Given the description of an element on the screen output the (x, y) to click on. 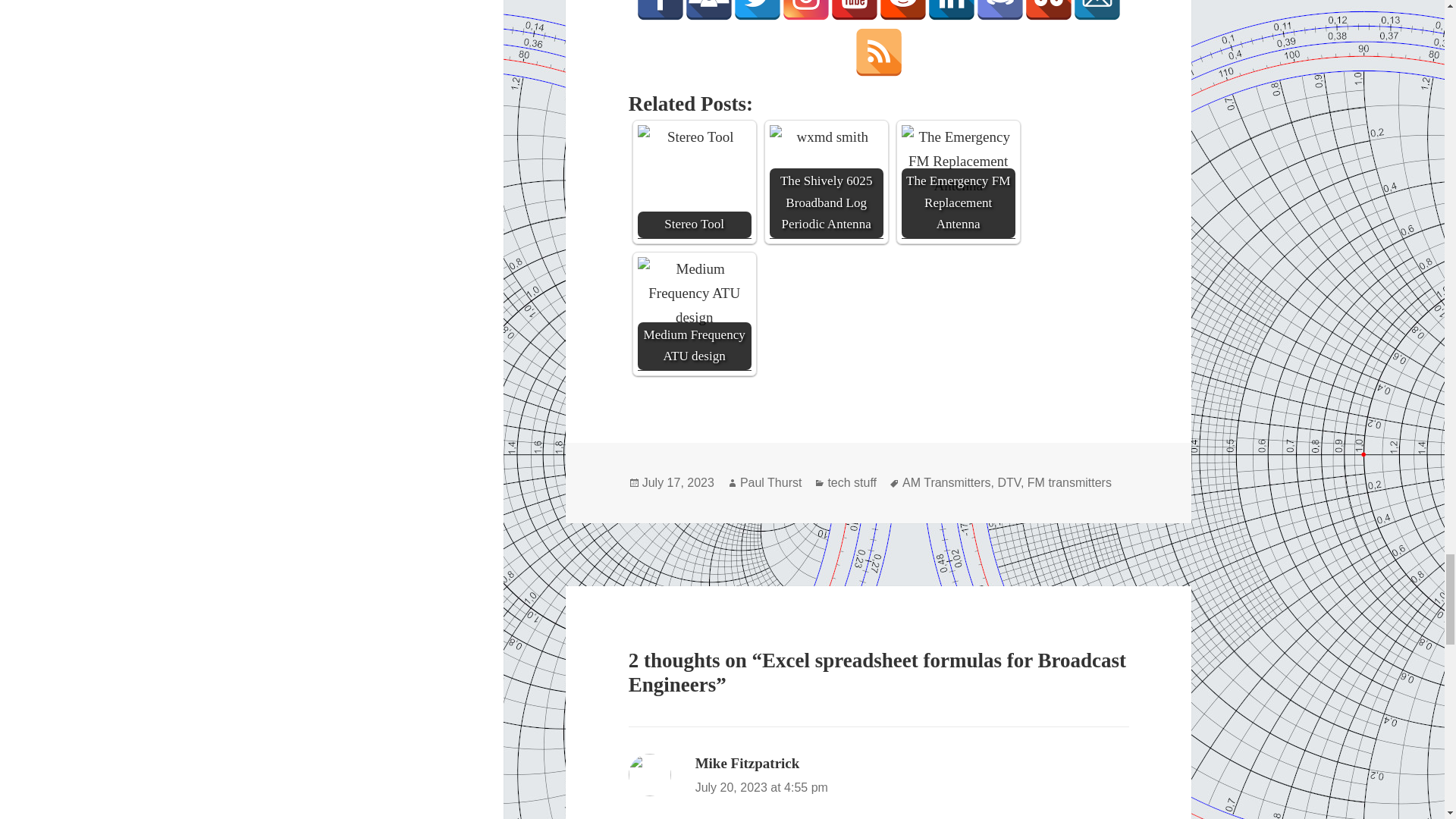
Instagram (805, 10)
StumbleUpon (1049, 10)
Discord (1000, 10)
Email (1097, 10)
YouTube (854, 10)
Facebook (660, 10)
Reddit (903, 10)
Twitter (757, 10)
LinkedIn (951, 10)
Facebook Group (708, 10)
